Given the description of an element on the screen output the (x, y) to click on. 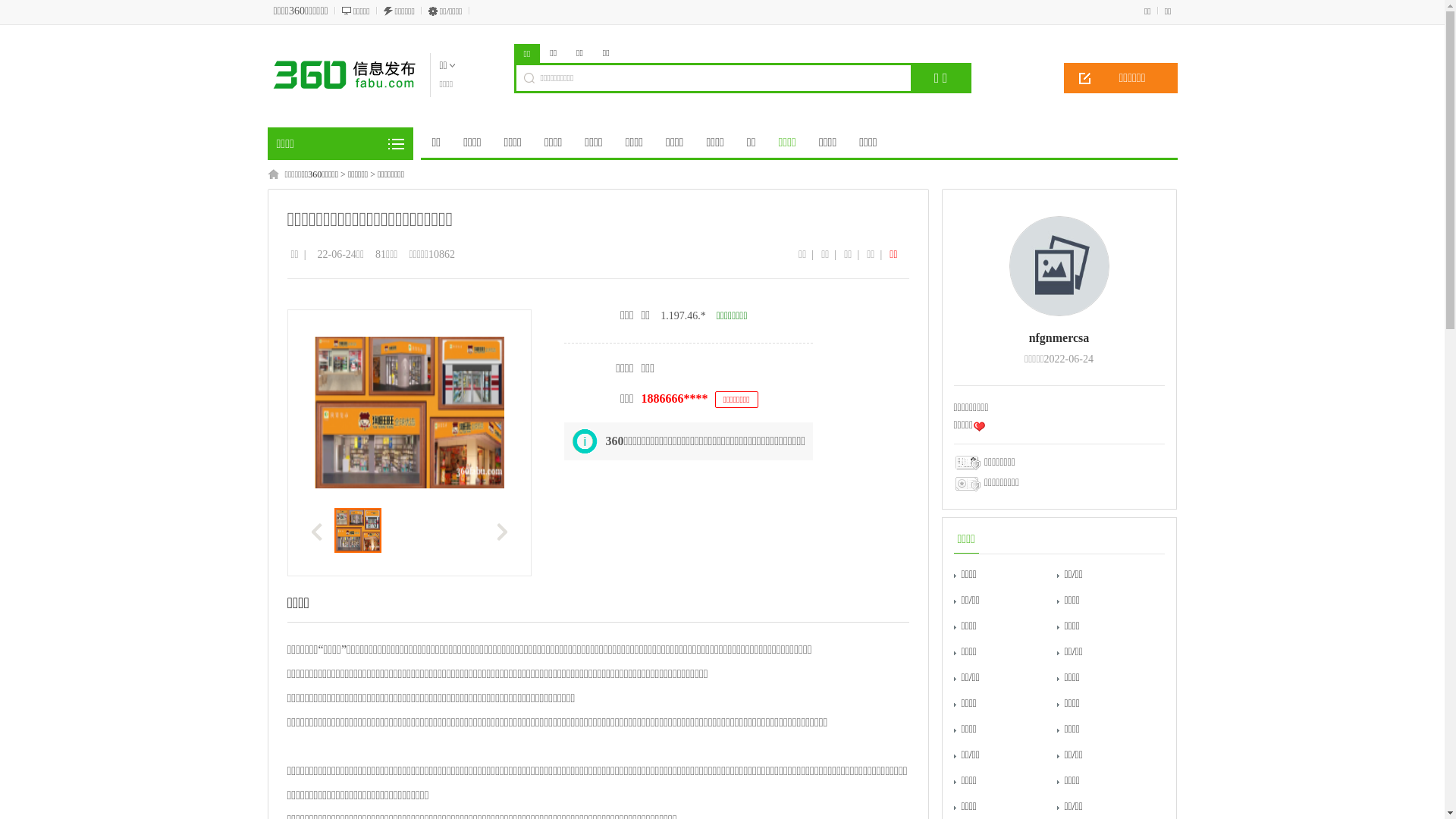
nfgnmercsa Element type: text (1059, 337)
